Given the description of an element on the screen output the (x, y) to click on. 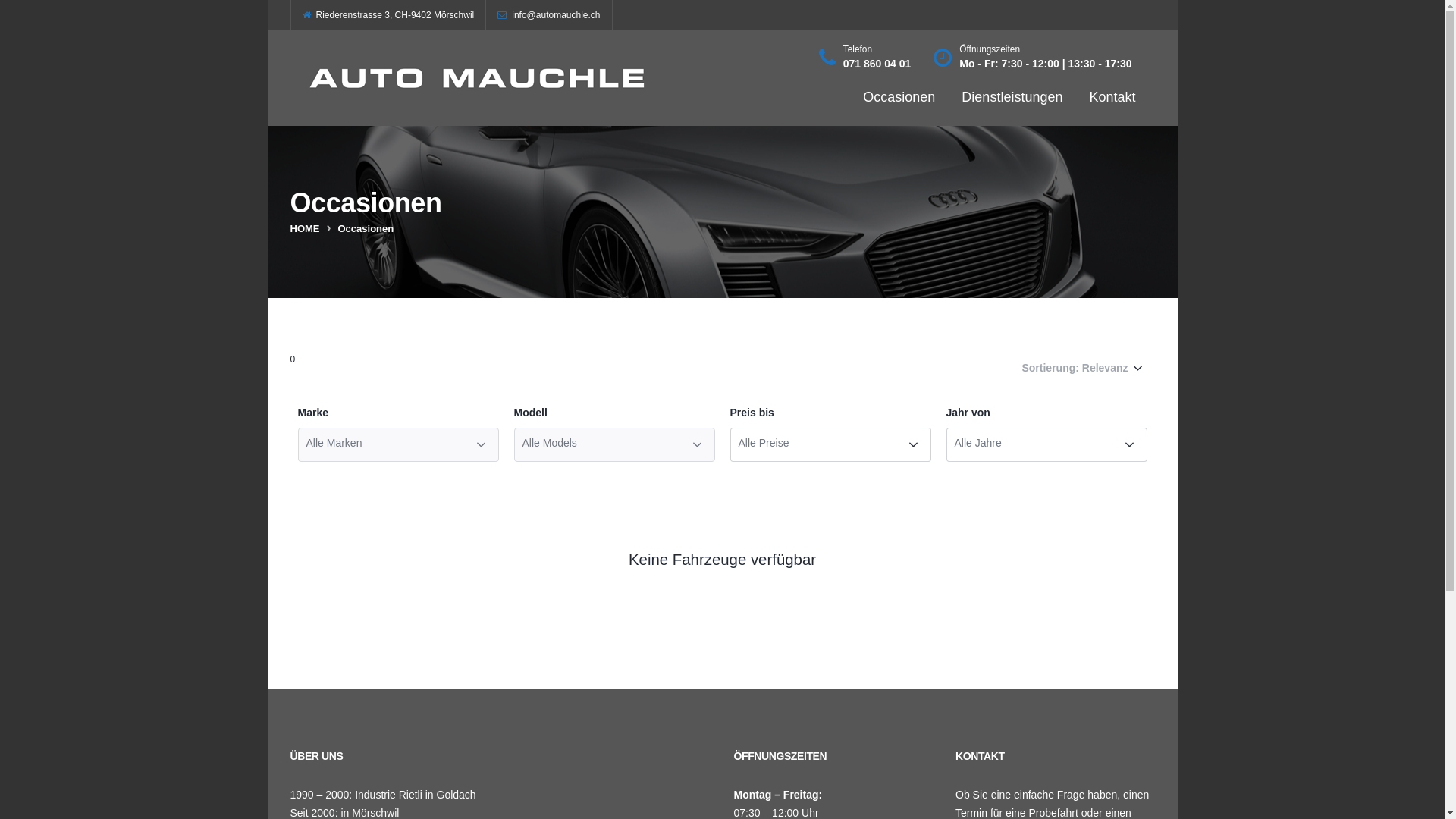
Kontakt Element type: text (1111, 97)
Auto Mauchle Element type: hover (478, 78)
Dienstleistungen Element type: text (1011, 97)
HOME Element type: text (304, 228)
Occasionen Element type: text (898, 97)
